Given the description of an element on the screen output the (x, y) to click on. 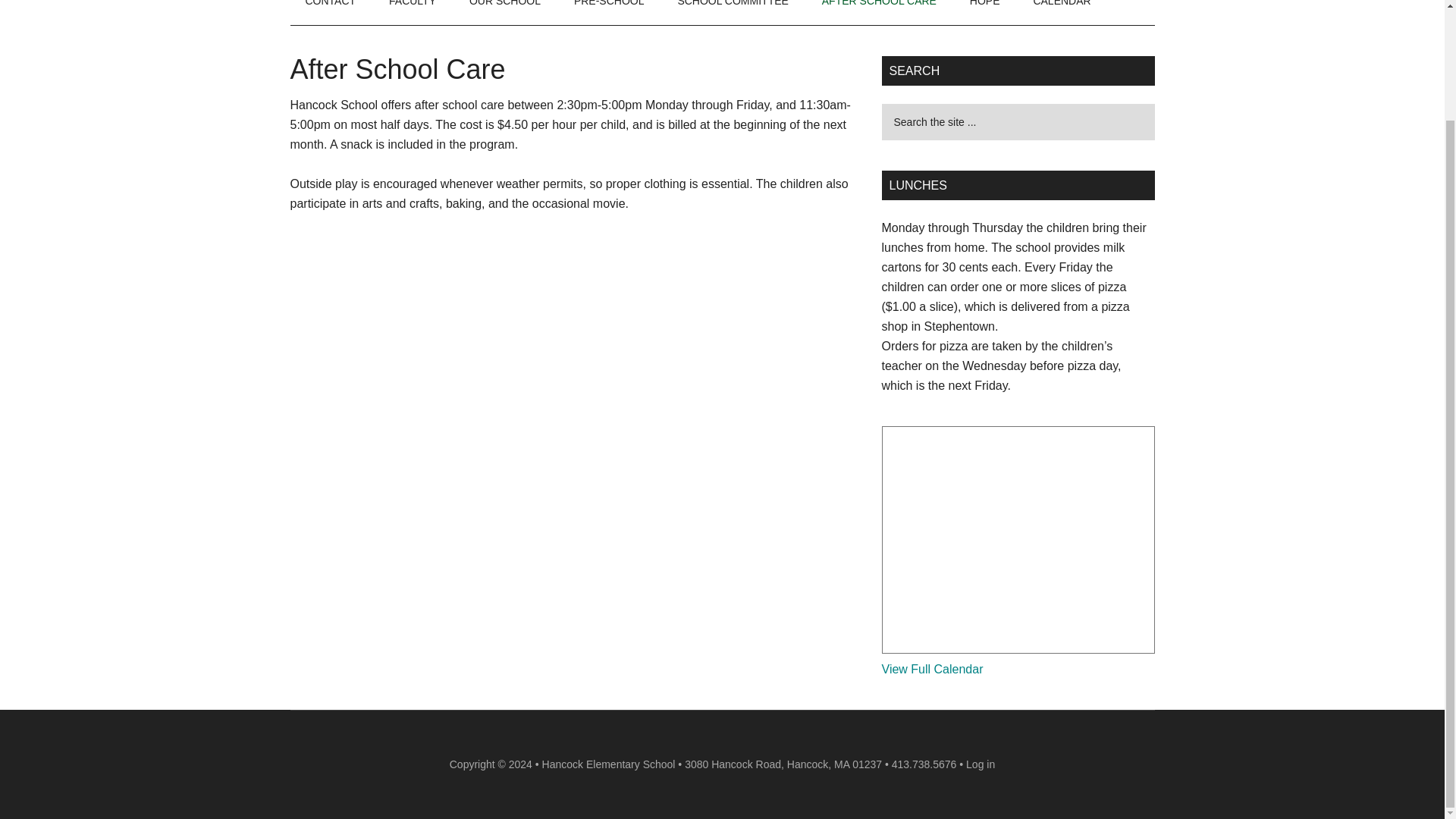
FACULTY (412, 12)
HOPE (984, 12)
View Full Calendar (931, 668)
AFTER SCHOOL CARE (879, 12)
CALENDAR (1061, 12)
SCHOOL COMMITTEE (732, 12)
Log in (980, 764)
CONTACT (330, 12)
